Given the description of an element on the screen output the (x, y) to click on. 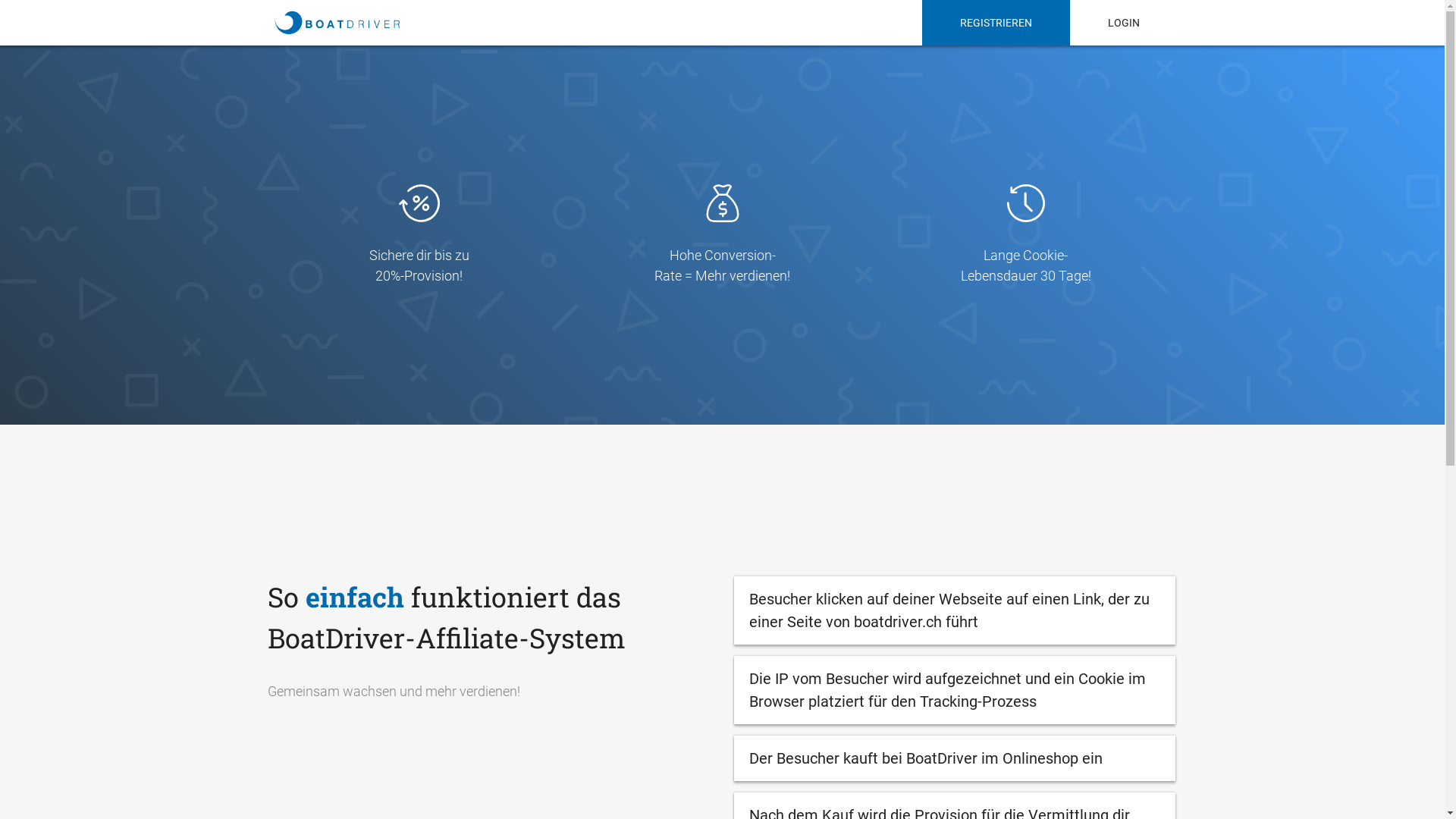
REGISTRIEREN Element type: text (996, 22)
LOGIN Element type: text (1122, 22)
